Given the description of an element on the screen output the (x, y) to click on. 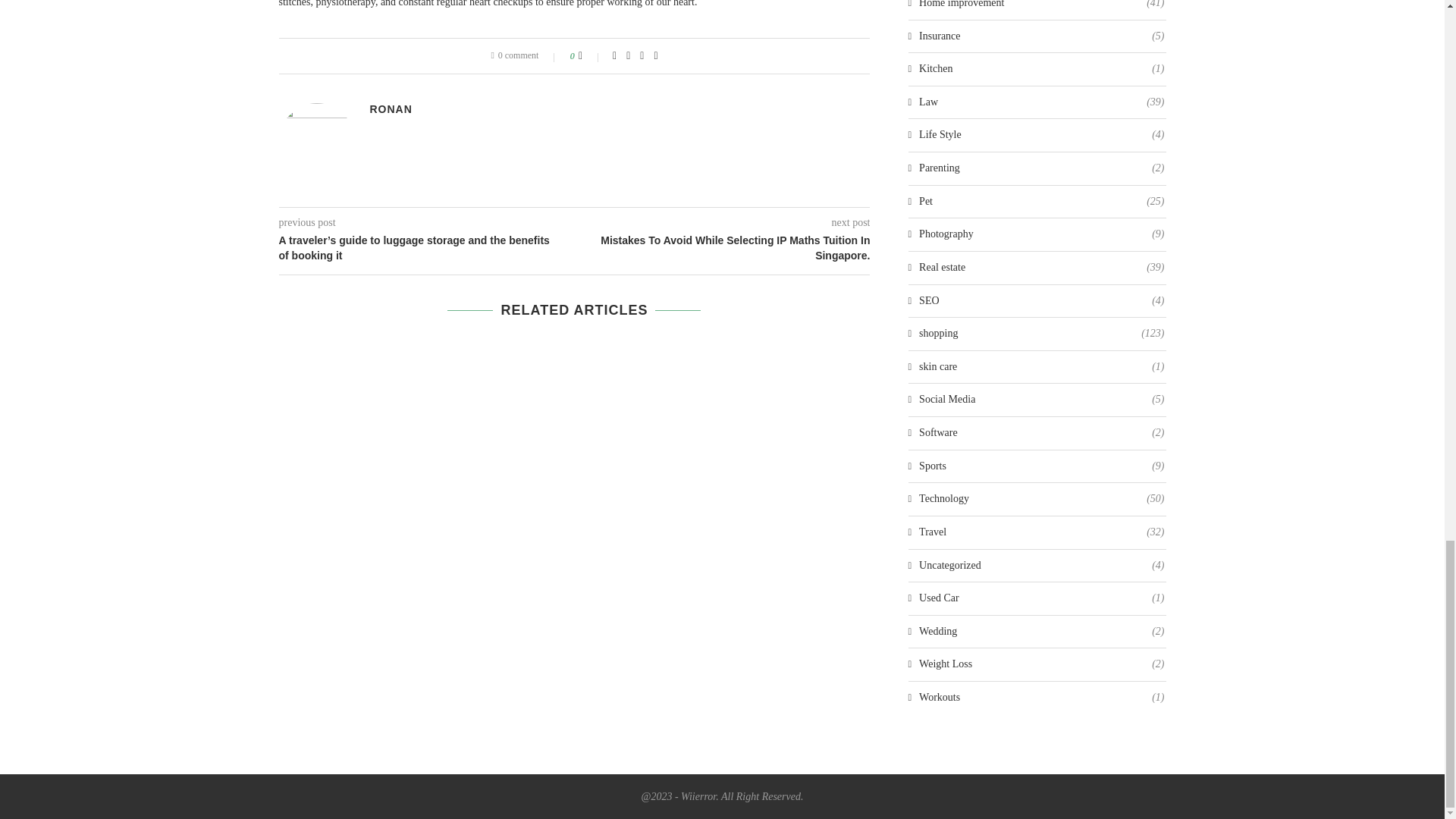
Posts by Ronan (390, 109)
RONAN (390, 109)
Like (590, 55)
